Given the description of an element on the screen output the (x, y) to click on. 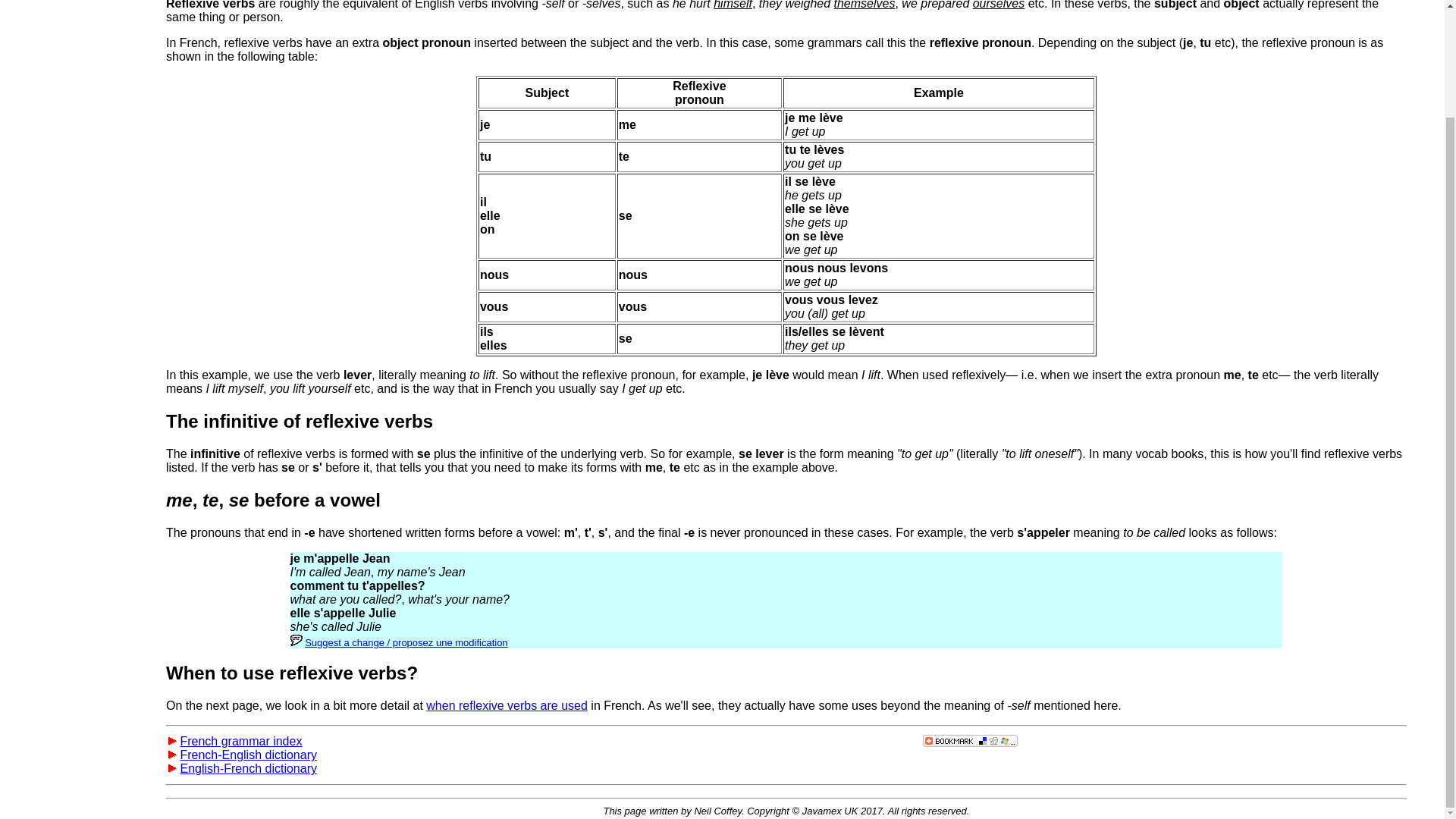
English-French dictionary (248, 768)
when reflexive verbs are used (507, 705)
French grammar index (240, 740)
French-English dictionary (248, 754)
